Given the description of an element on the screen output the (x, y) to click on. 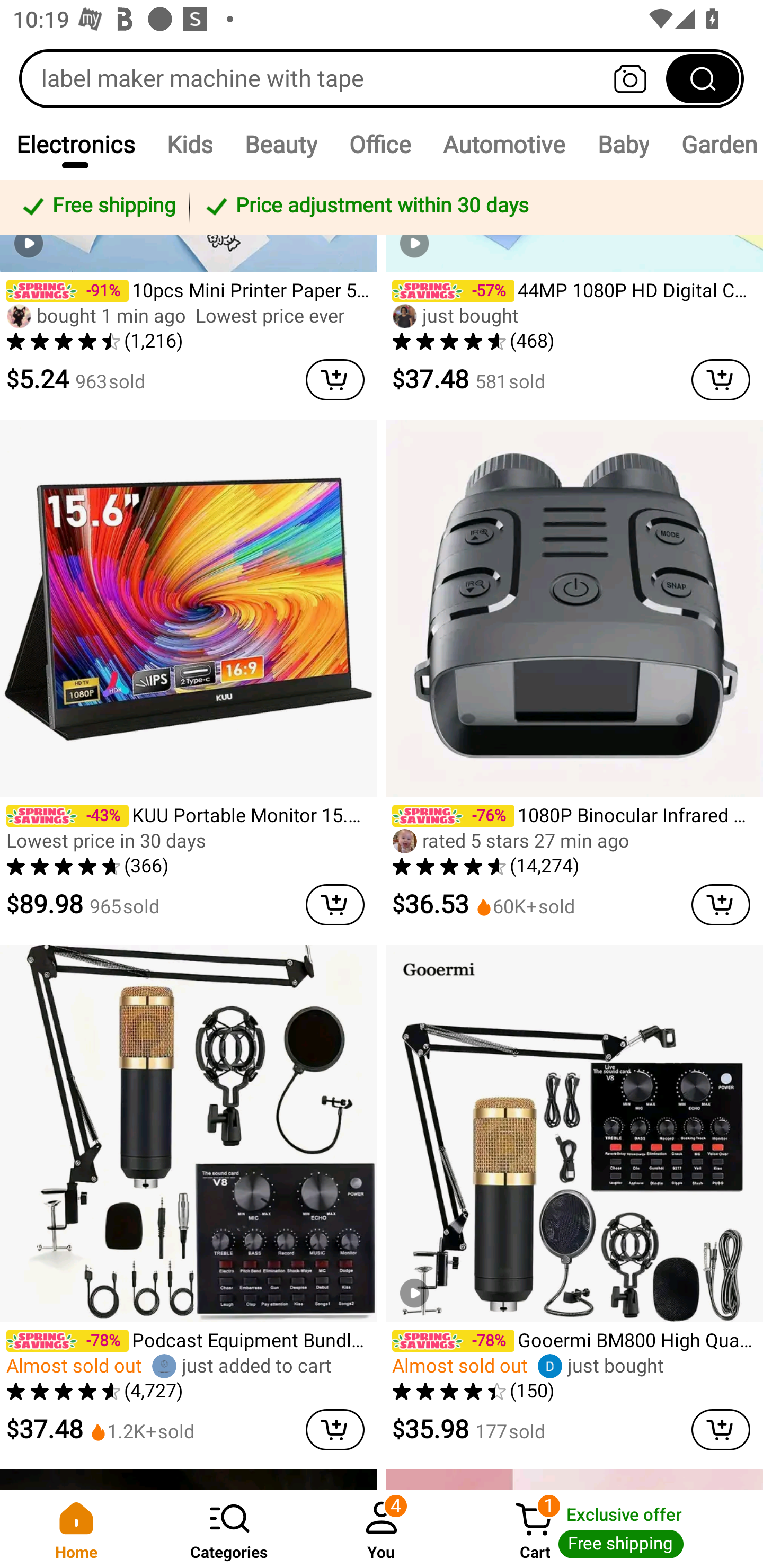
label maker machine with tape (381, 78)
Electronics (75, 144)
Kids (189, 144)
Beauty (280, 144)
Office (379, 144)
Automotive (503, 144)
Baby (623, 144)
Garden (714, 144)
Free shipping (97, 206)
Price adjustment within 30 days (472, 206)
cart delete (334, 379)
cart delete (720, 379)
cart delete (334, 904)
cart delete (720, 904)
cart delete (334, 1429)
cart delete (720, 1429)
Home (76, 1528)
Categories (228, 1528)
You 4 You (381, 1528)
Cart 1 Cart Exclusive offer (610, 1528)
